Given the description of an element on the screen output the (x, y) to click on. 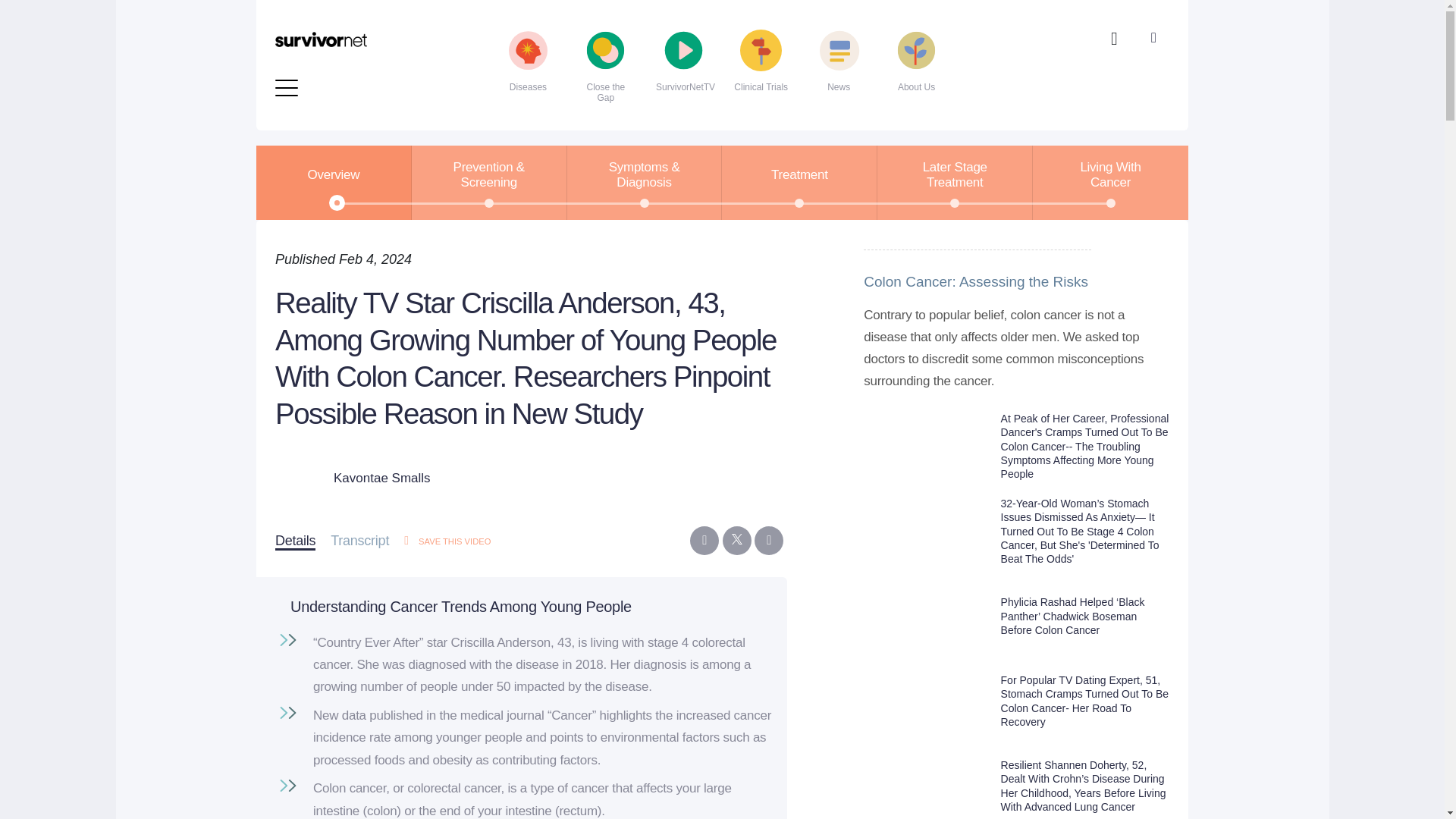
Ovarian Cancer (661, 7)
Prostate Cancer (661, 28)
Heart Failure (364, 28)
Esophageal Cancer (364, 7)
Liver Cancer (364, 78)
Psoriasis (661, 52)
